Given the description of an element on the screen output the (x, y) to click on. 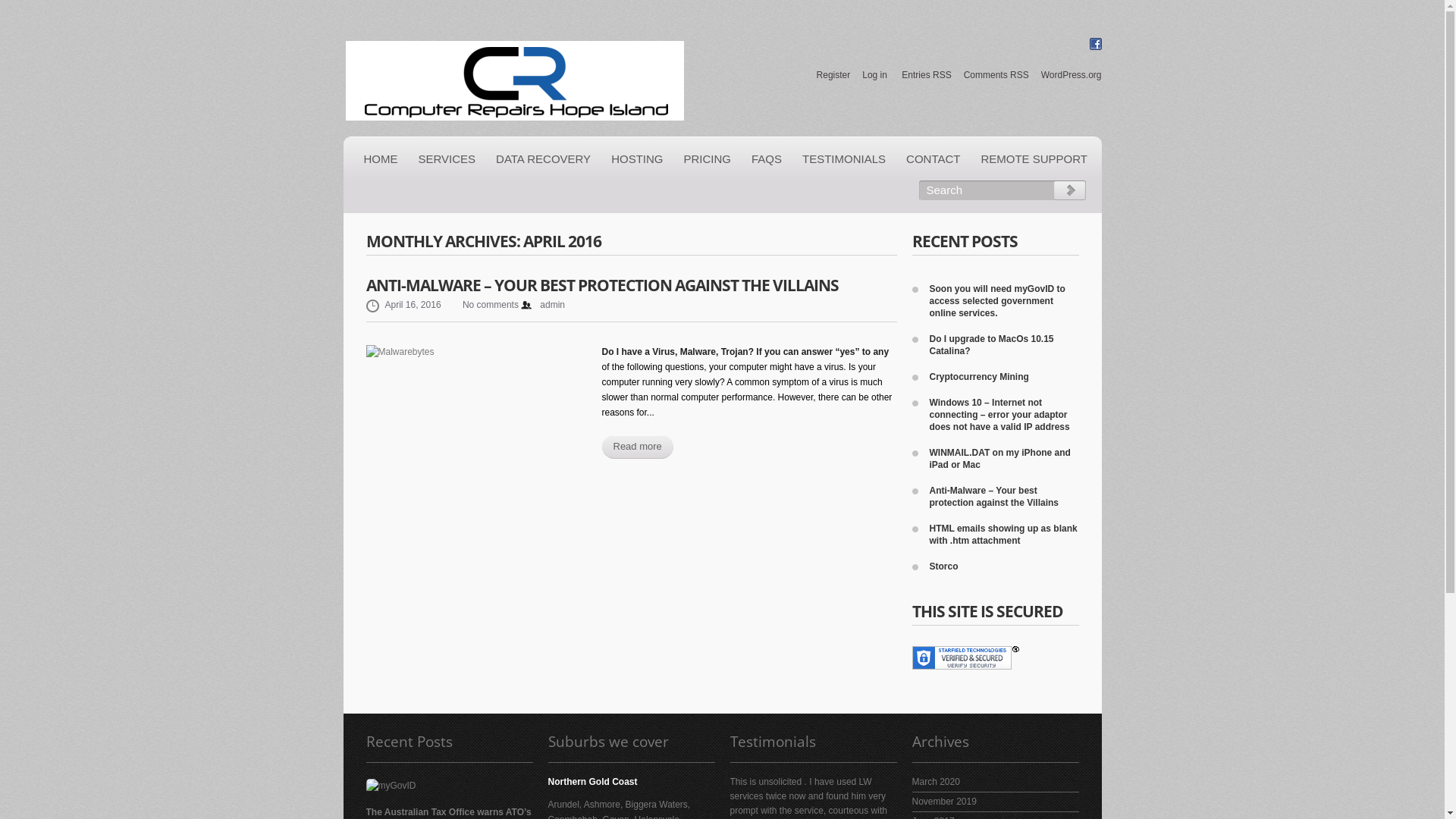
TESTIMONIALS Element type: text (843, 159)
Read more Element type: text (637, 446)
FAQS Element type: text (766, 159)
March 2020 Element type: text (935, 781)
Do I upgrade to MacOs 10.15 Catalina? Element type: text (1004, 344)
DATA RECOVERY Element type: text (542, 159)
HTML emails showing up as blank with .htm attachment Element type: text (1004, 534)
REMOTE SUPPORT Element type: text (1033, 159)
Comments RSS Element type: text (996, 74)
Storco Element type: text (943, 566)
Log in Element type: text (874, 74)
Cryptocurrency Mining Element type: text (979, 376)
SERVICES Element type: text (447, 159)
Entries RSS Element type: text (925, 74)
admin Element type: text (542, 305)
Register Element type: text (833, 74)
WINMAIL.DAT on my iPhone and iPad or Mac Element type: text (1004, 458)
PRICING Element type: text (707, 159)
HOME Element type: text (381, 159)
HOSTING Element type: text (636, 159)
WordPress.org Element type: text (1071, 74)
No comments Element type: text (480, 305)
November 2019 Element type: text (943, 801)
facebook Element type: hover (1094, 48)
CONTACT Element type: text (933, 159)
GO Element type: text (1069, 190)
